Given the description of an element on the screen output the (x, y) to click on. 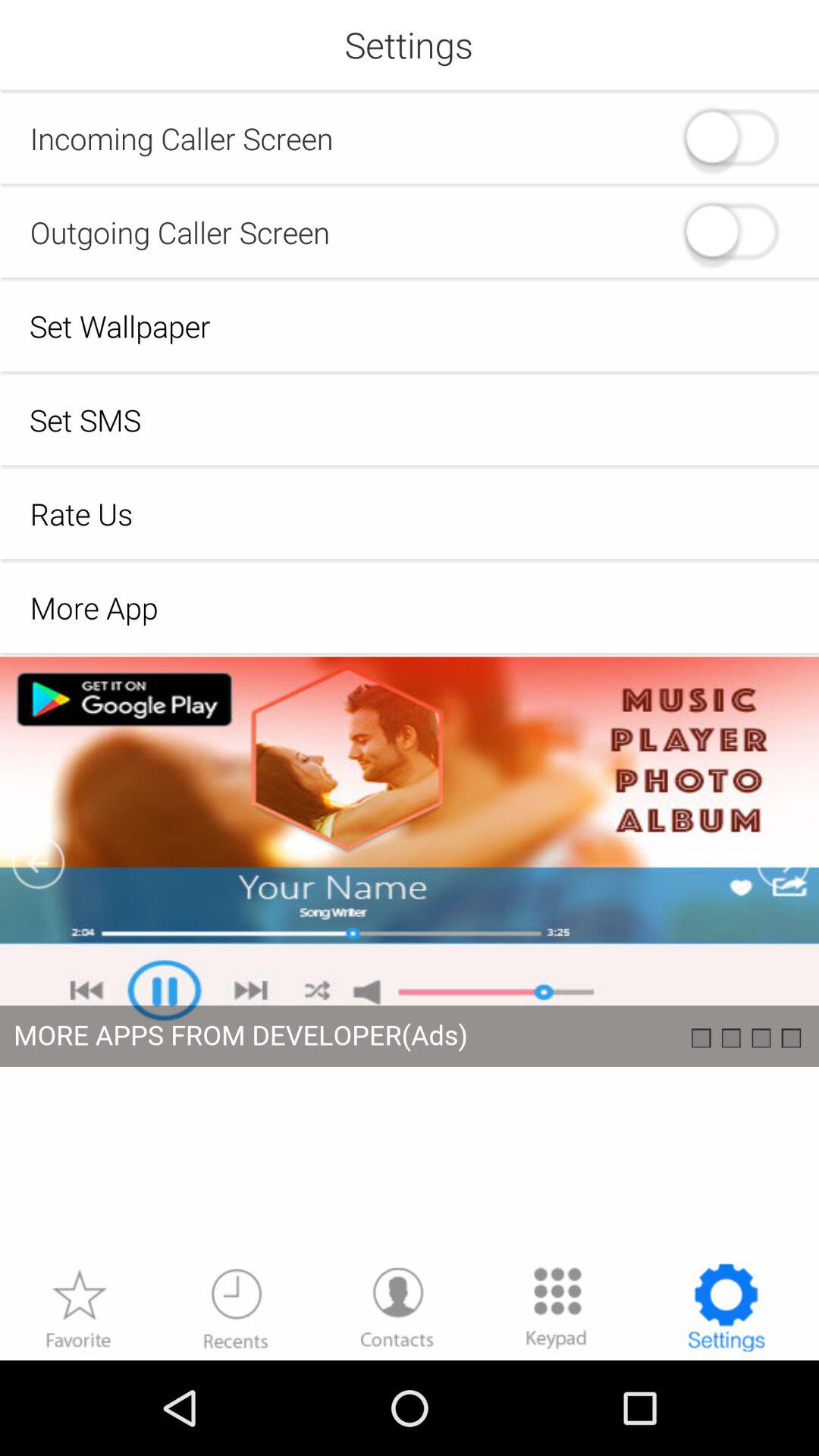
go to settings (725, 1307)
